Given the description of an element on the screen output the (x, y) to click on. 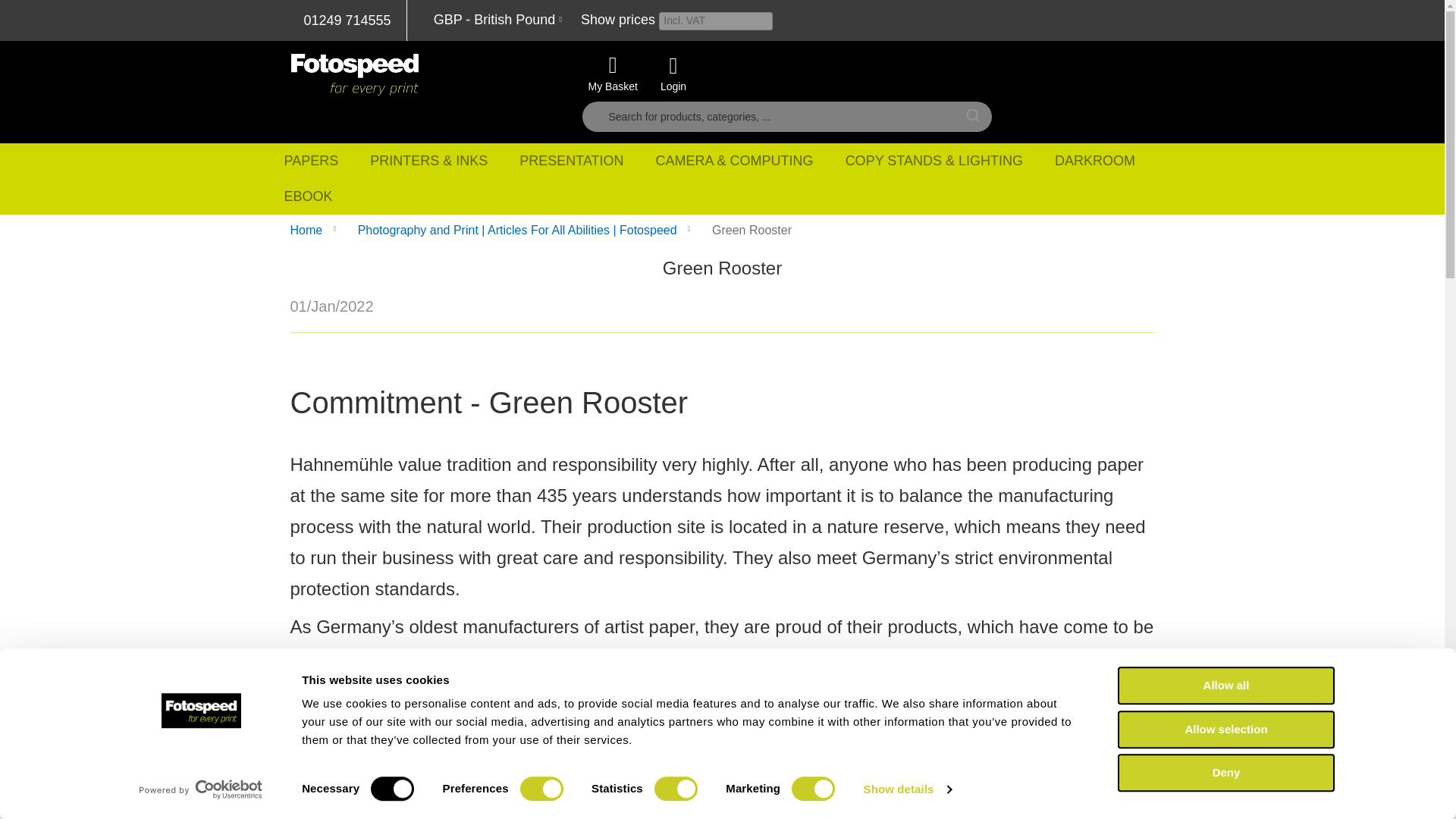
Show details (907, 789)
